Given the description of an element on the screen output the (x, y) to click on. 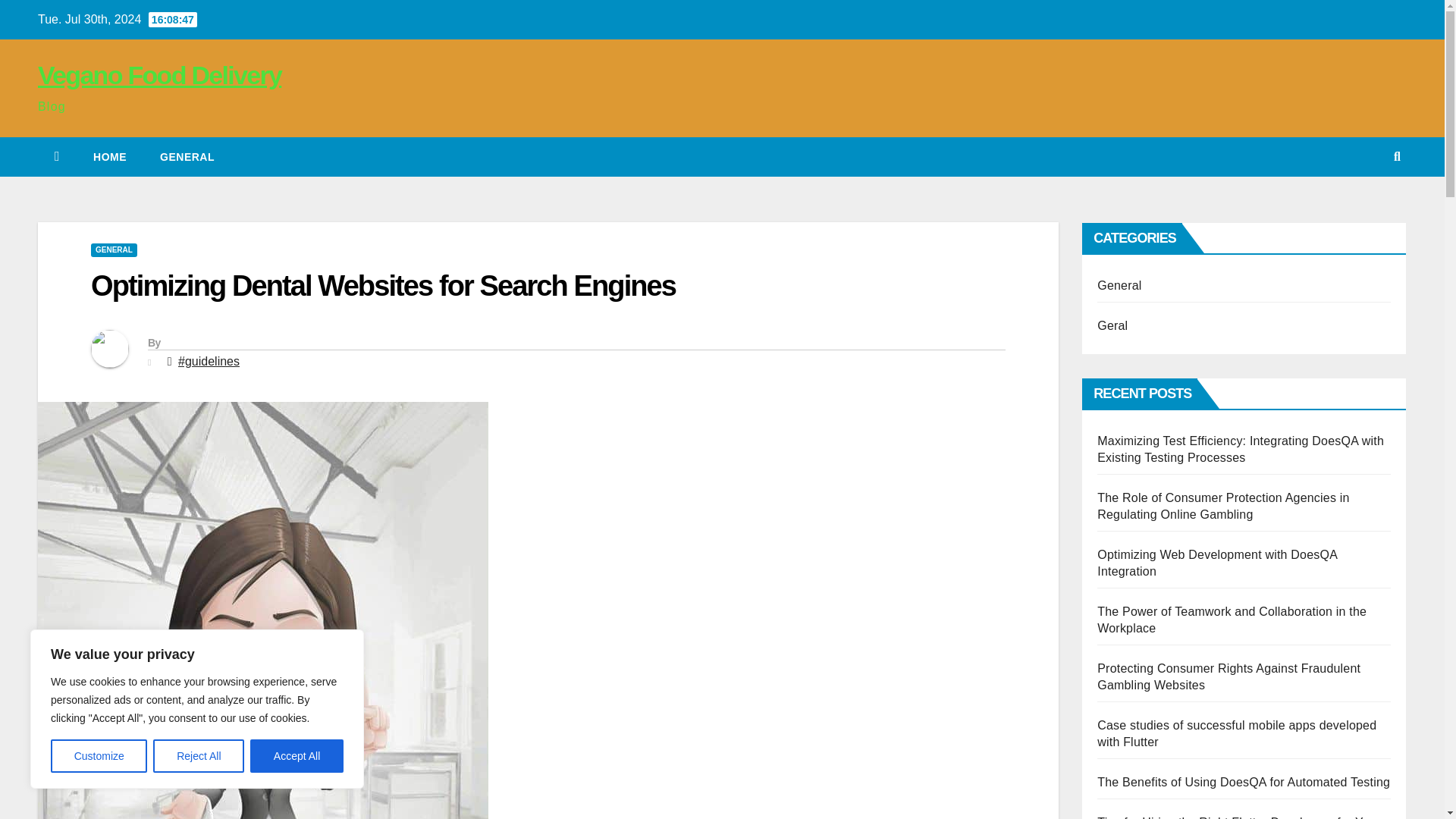
Vegano Food Delivery (159, 74)
Permalink to: Optimizing Dental Websites for Search Engines (382, 286)
Accept All (296, 756)
Home (109, 156)
Customize (98, 756)
Reject All (198, 756)
GENERAL (113, 250)
General (186, 156)
Optimizing Dental Websites for Search Engines (382, 286)
HOME (109, 156)
